Given the description of an element on the screen output the (x, y) to click on. 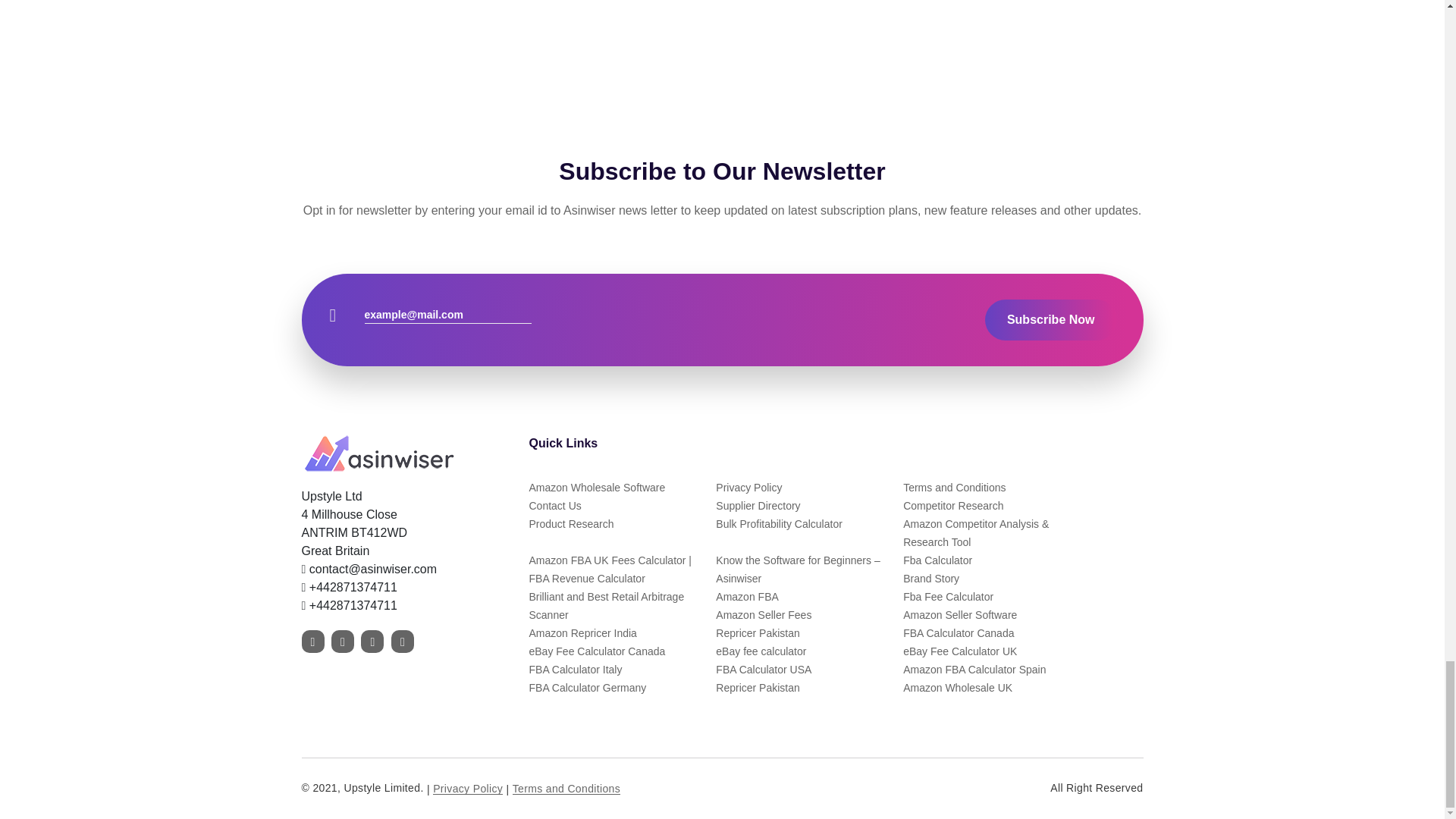
Facebook (312, 640)
Whatsapp (349, 604)
Linkedin (402, 640)
Twitter (342, 640)
Youtube (372, 640)
Email (369, 568)
Call (349, 586)
Subscribe Now (1050, 319)
